Given the description of an element on the screen output the (x, y) to click on. 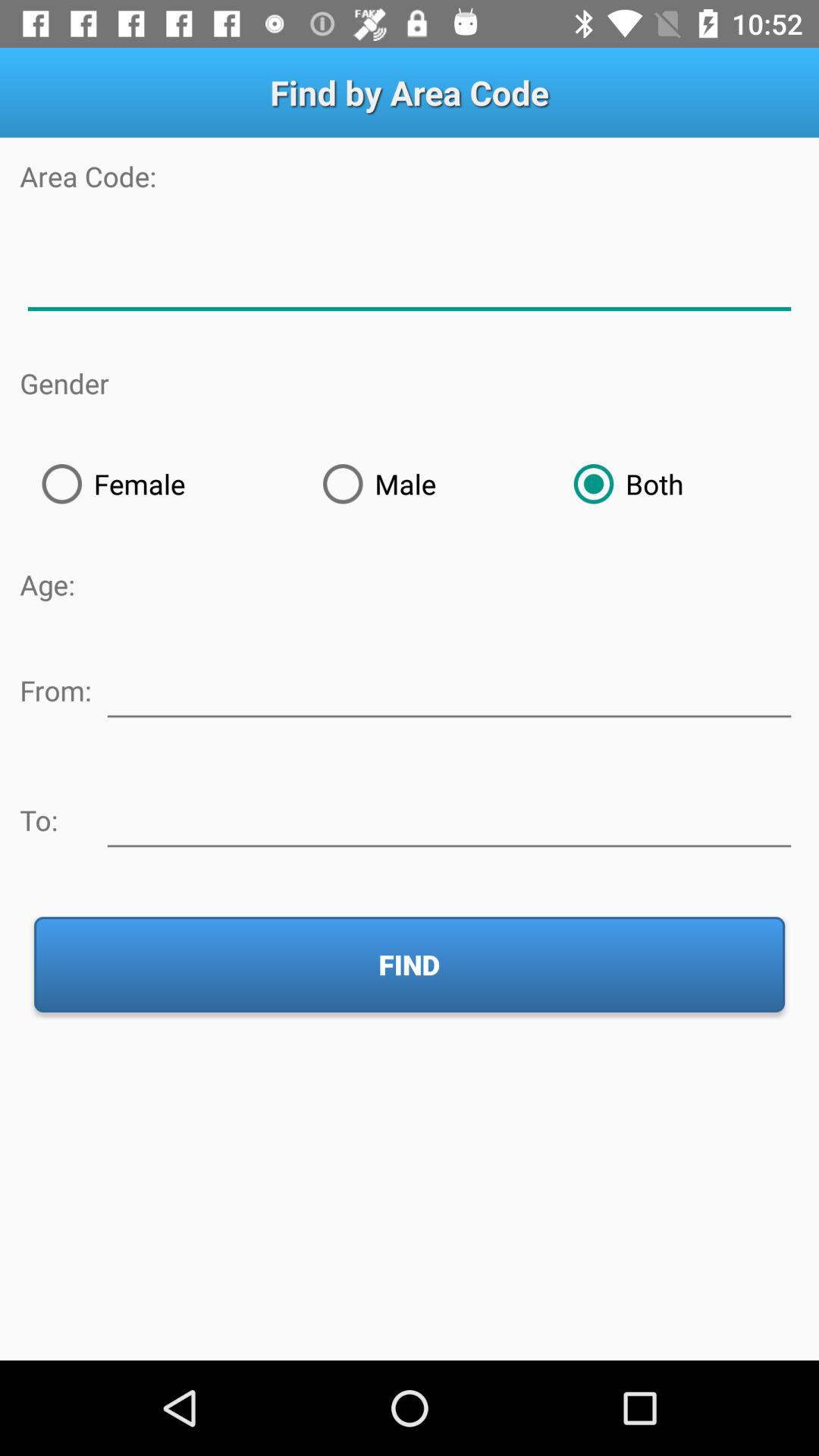
launch the item at the top right corner (674, 483)
